Given the description of an element on the screen output the (x, y) to click on. 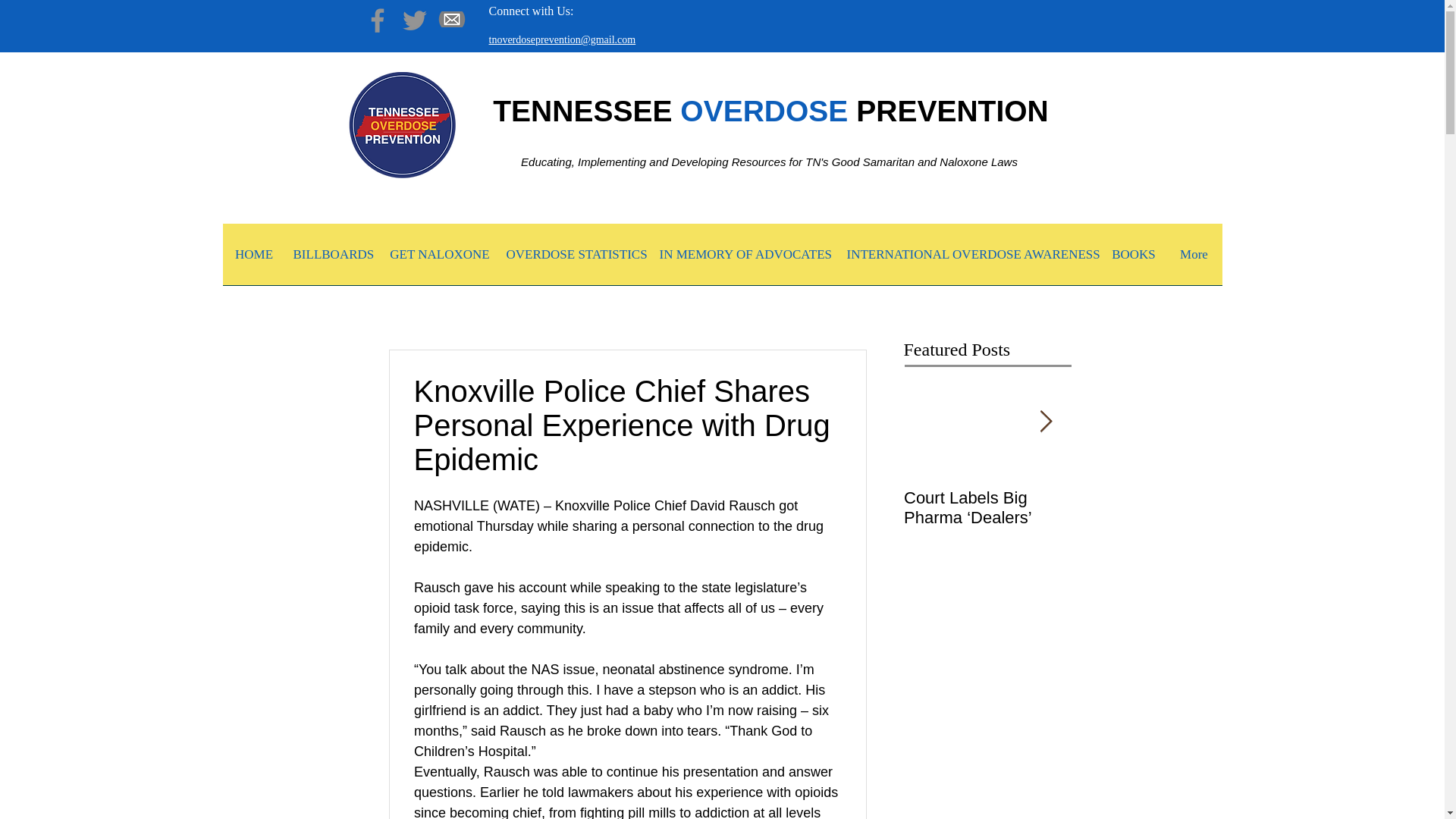
IN MEMORY OF ADVOCATES (746, 258)
INTERNATIONAL OVERDOSE AWARENESS (969, 258)
OVERDOSE STATISTICS (575, 258)
BILLBOARDS (332, 258)
